Given the description of an element on the screen output the (x, y) to click on. 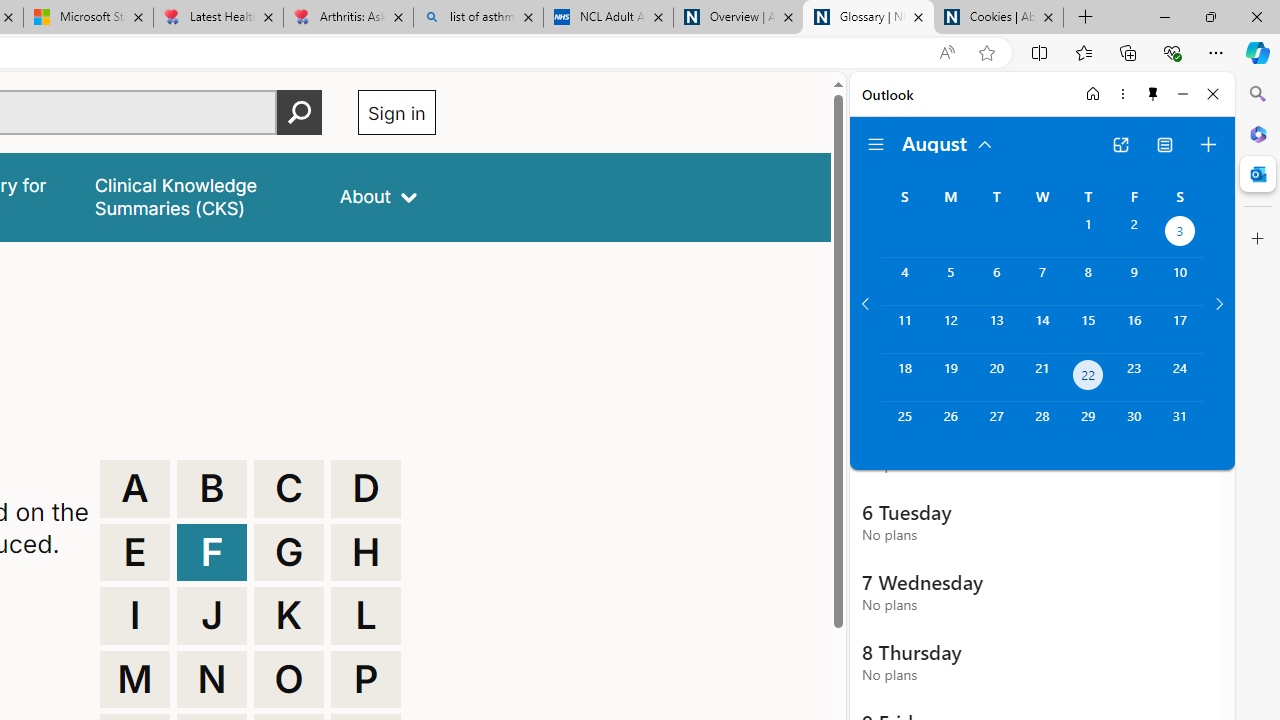
I (134, 615)
Thursday, August 1, 2024.  (1088, 233)
J (212, 615)
H (365, 551)
M (134, 679)
Friday, August 30, 2024.  (1134, 425)
Monday, August 12, 2024.  (950, 329)
Tuesday, August 6, 2024.  (996, 281)
